Given the description of an element on the screen output the (x, y) to click on. 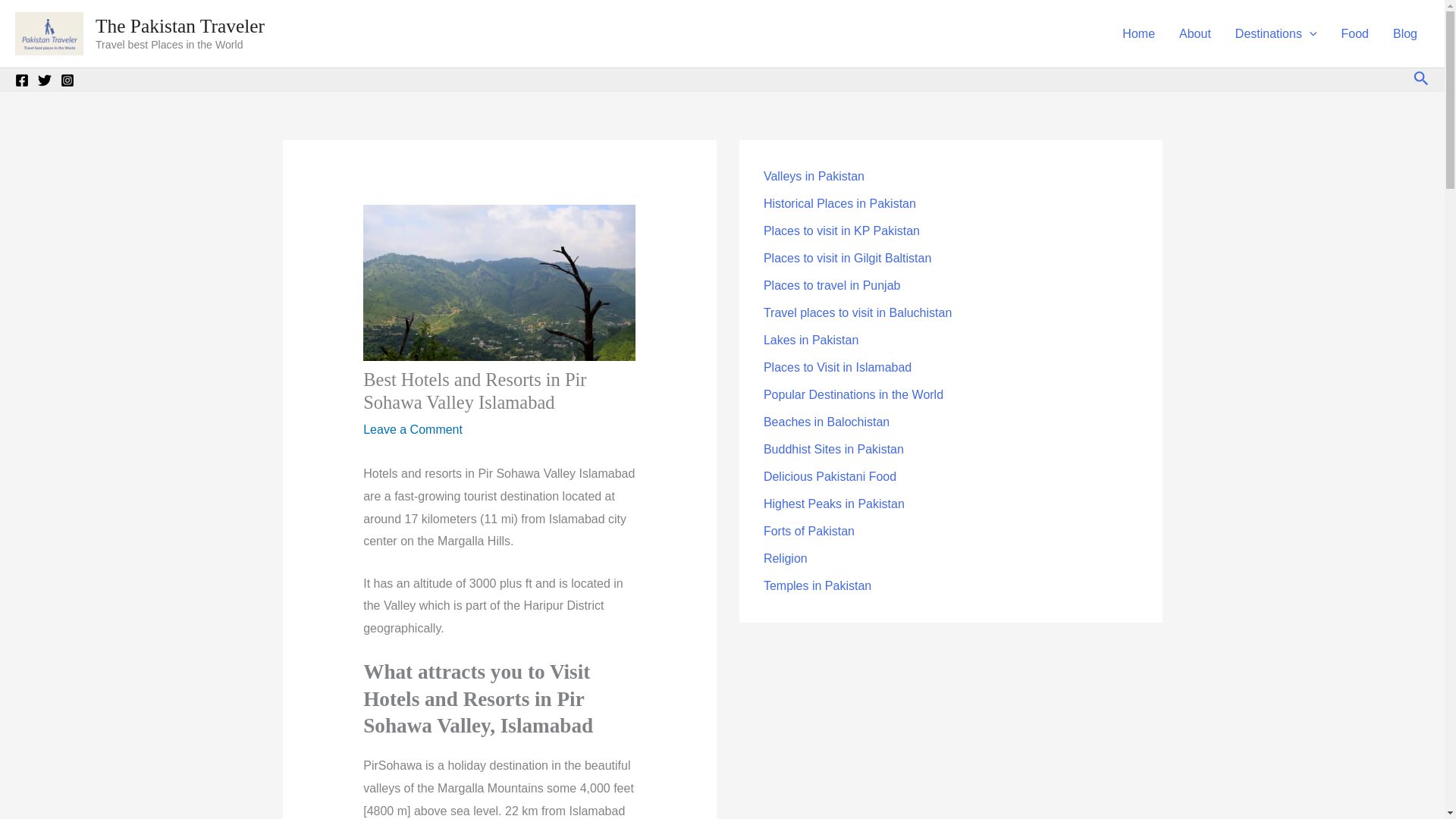
The Pakistan Traveler (180, 25)
Destinations (1276, 33)
Home (1138, 33)
About (1195, 33)
